Given the description of an element on the screen output the (x, y) to click on. 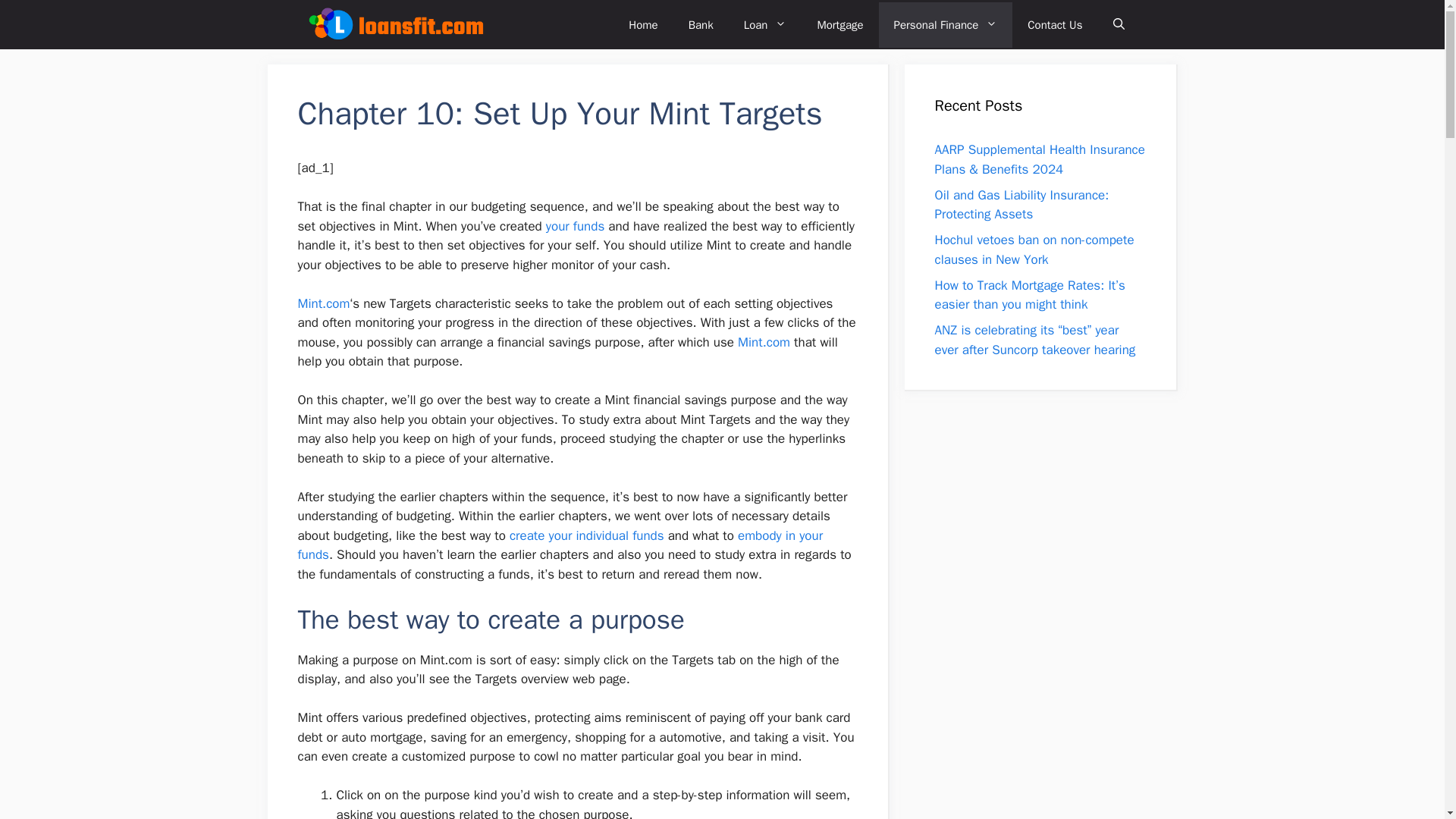
embody in your funds (559, 545)
create your individual funds (586, 535)
Loan (765, 23)
your funds (575, 226)
Contact Us (1054, 23)
Home (642, 23)
Bank (700, 23)
Mint.com (323, 303)
Personal Finance (946, 23)
Mortgage (839, 23)
Mint.com (764, 342)
Loansfit Finance Blog (394, 24)
